Given the description of an element on the screen output the (x, y) to click on. 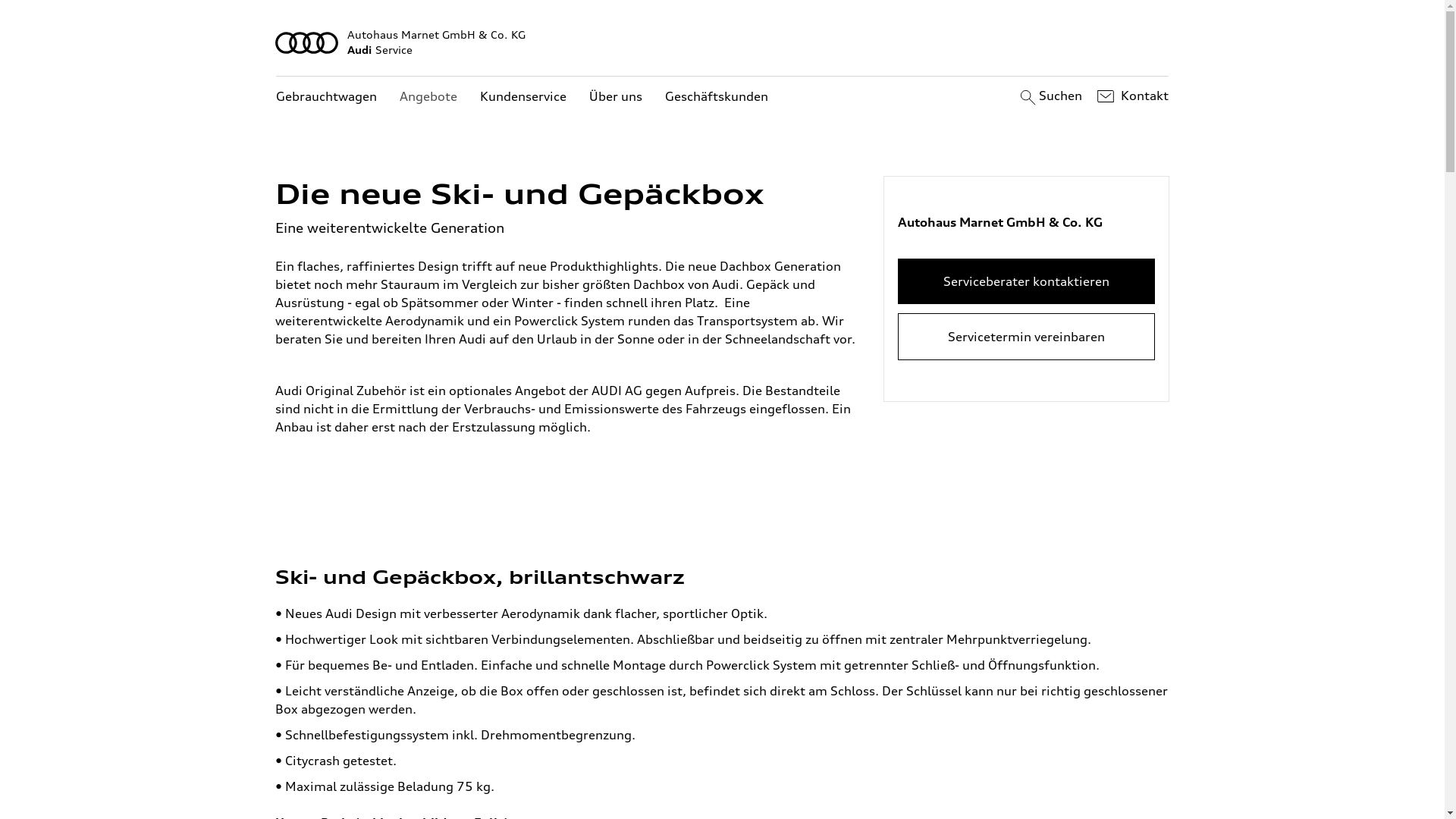
Kontakt Element type: text (1130, 96)
Angebote Element type: text (428, 96)
Autohaus Marnet GmbH & Co. KG
AudiService Element type: text (722, 42)
Serviceberater kontaktieren Element type: text (1025, 281)
Servicetermin vereinbaren Element type: text (1025, 336)
Gebrauchtwagen Element type: text (326, 96)
Kundenservice Element type: text (523, 96)
Suchen Element type: text (1049, 96)
